Given the description of an element on the screen output the (x, y) to click on. 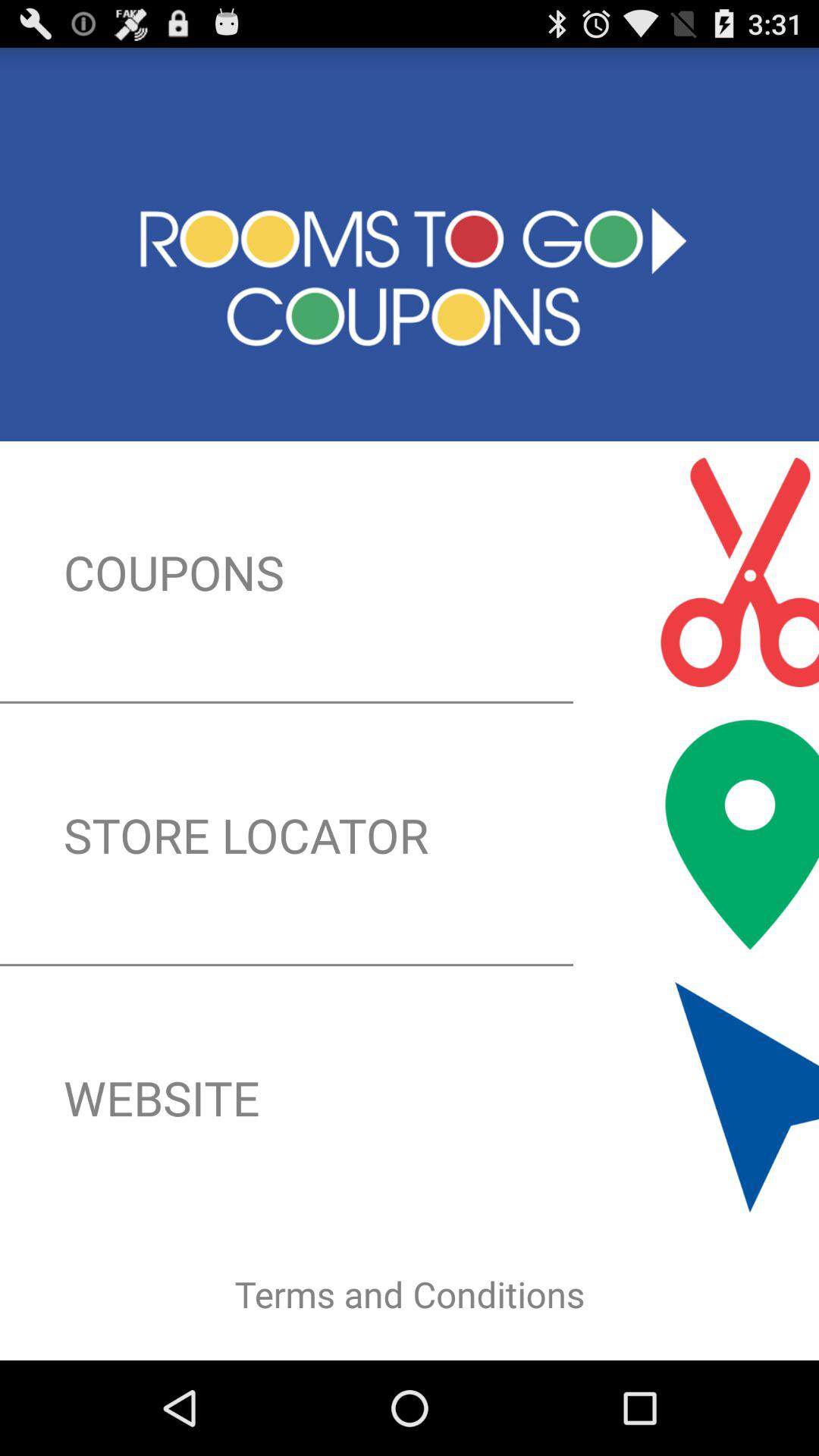
choose the button above store locator icon (409, 572)
